Given the description of an element on the screen output the (x, y) to click on. 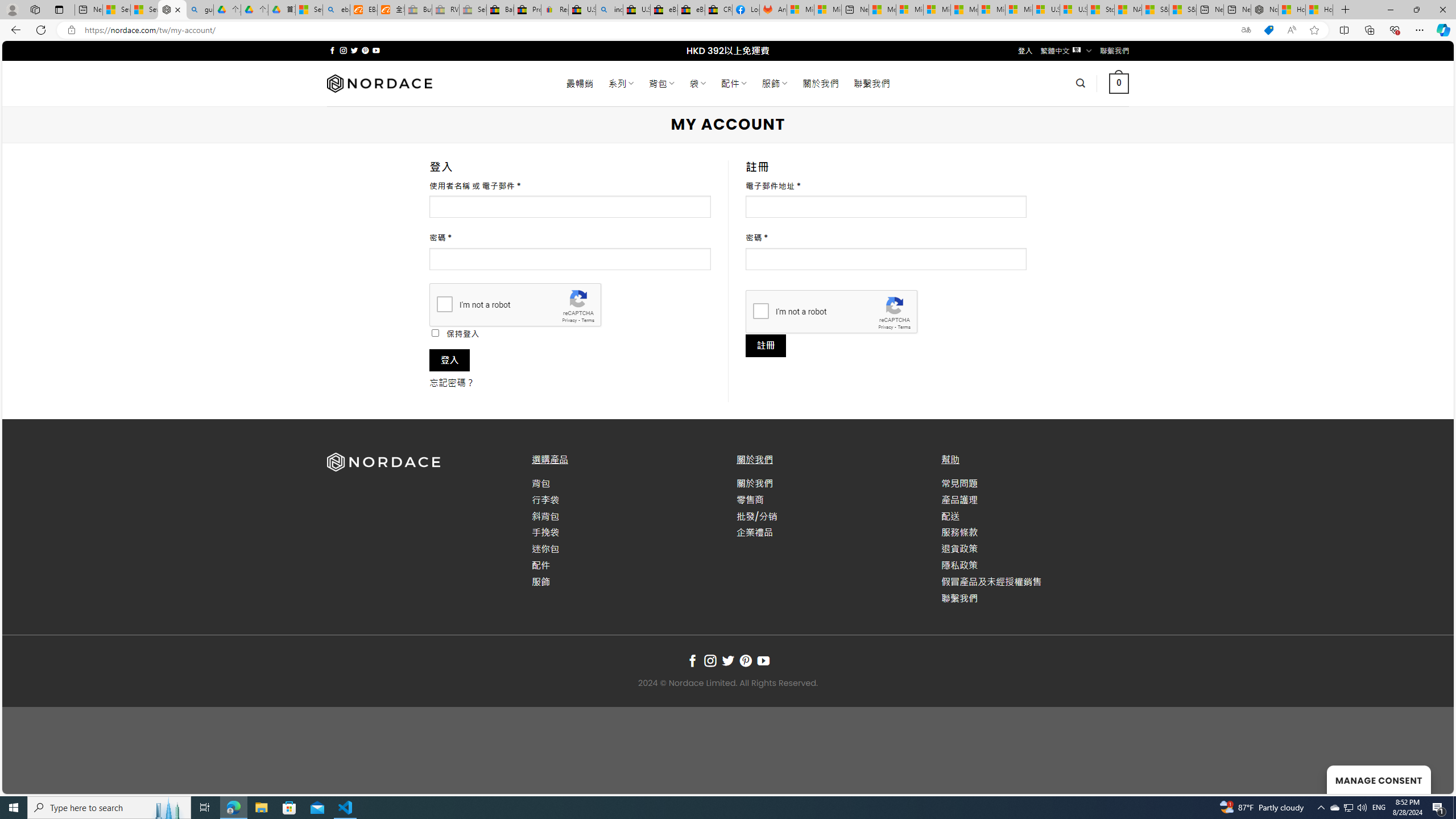
Terms (903, 326)
guge yunpan - Search (200, 9)
Sell worldwide with eBay - Sleeping (473, 9)
Privacy (885, 326)
